Given the description of an element on the screen output the (x, y) to click on. 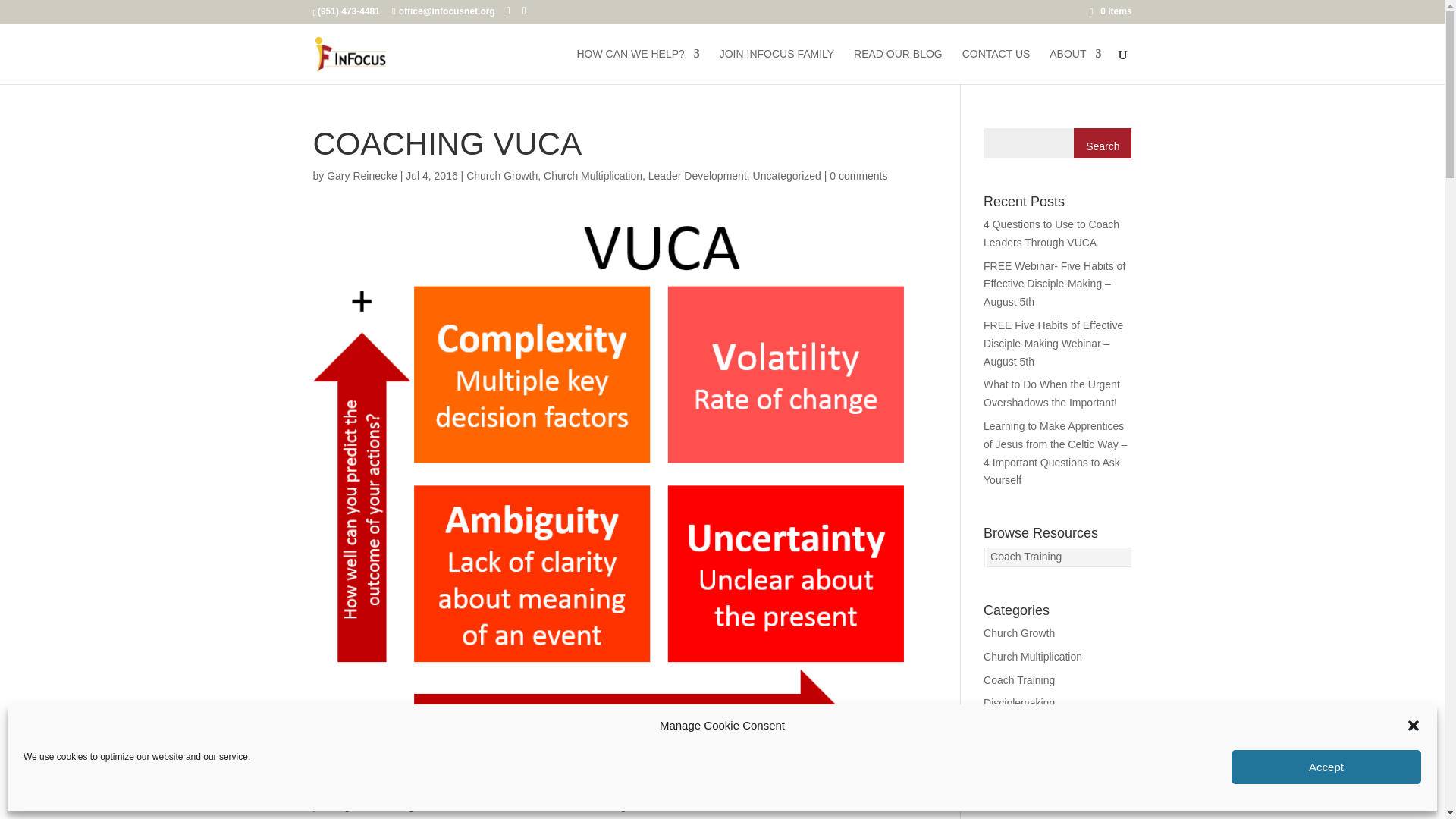
0 Items (1110, 10)
Posts by Gary Reinecke (361, 175)
Infocus Blogs (897, 66)
Search (1102, 142)
READ OUR BLOG (897, 66)
ABOUT (1074, 66)
Accept (1326, 766)
HOW CAN WE HELP? (637, 66)
CONTACT US (996, 66)
JOIN INFOCUS FAMILY (776, 66)
